Given the description of an element on the screen output the (x, y) to click on. 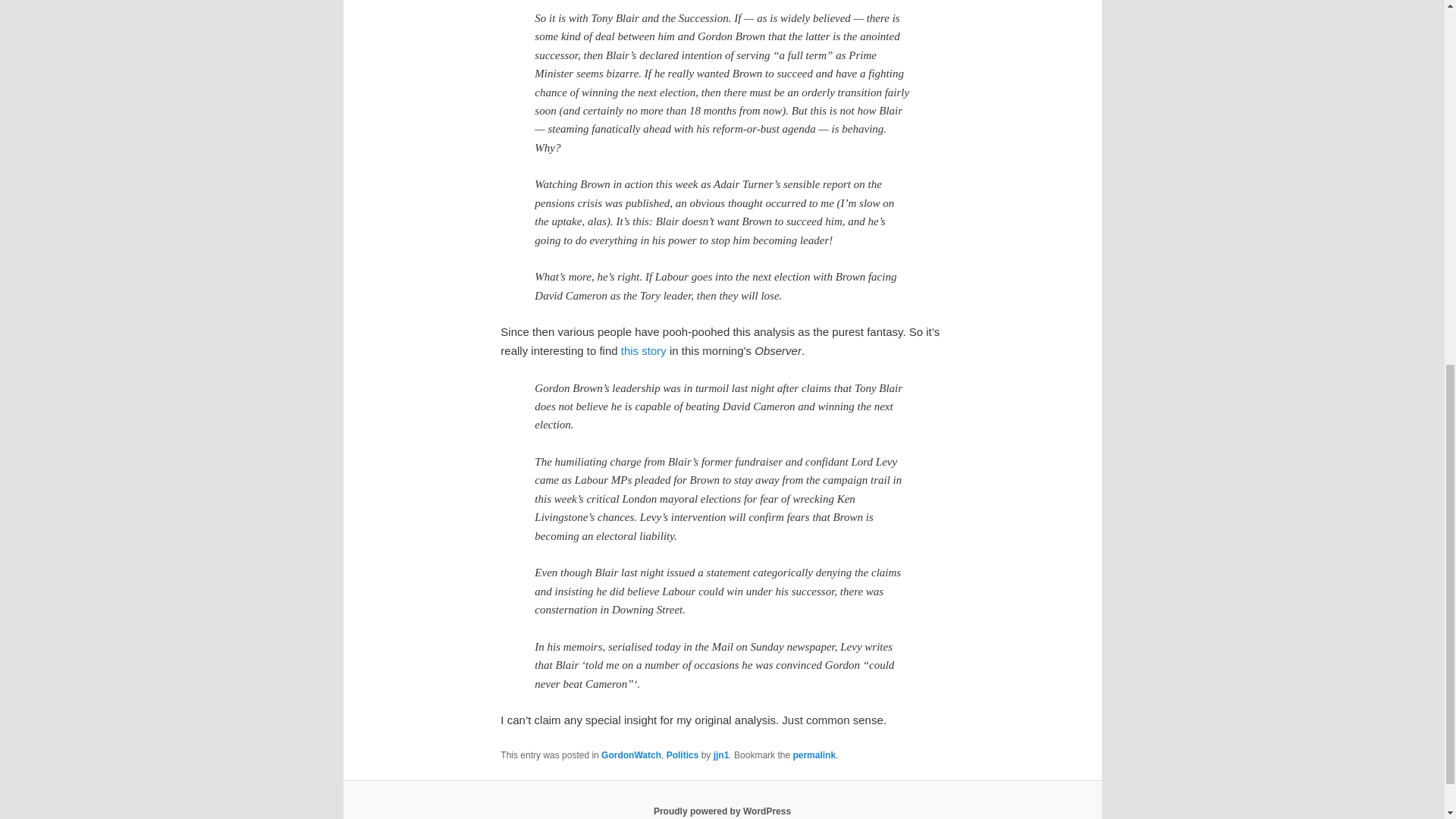
Politics (682, 755)
jjn1 (721, 755)
GordonWatch (631, 755)
permalink (813, 755)
Semantic Personal Publishing Platform (721, 810)
this story (643, 350)
Proudly powered by WordPress (721, 810)
